Given the description of an element on the screen output the (x, y) to click on. 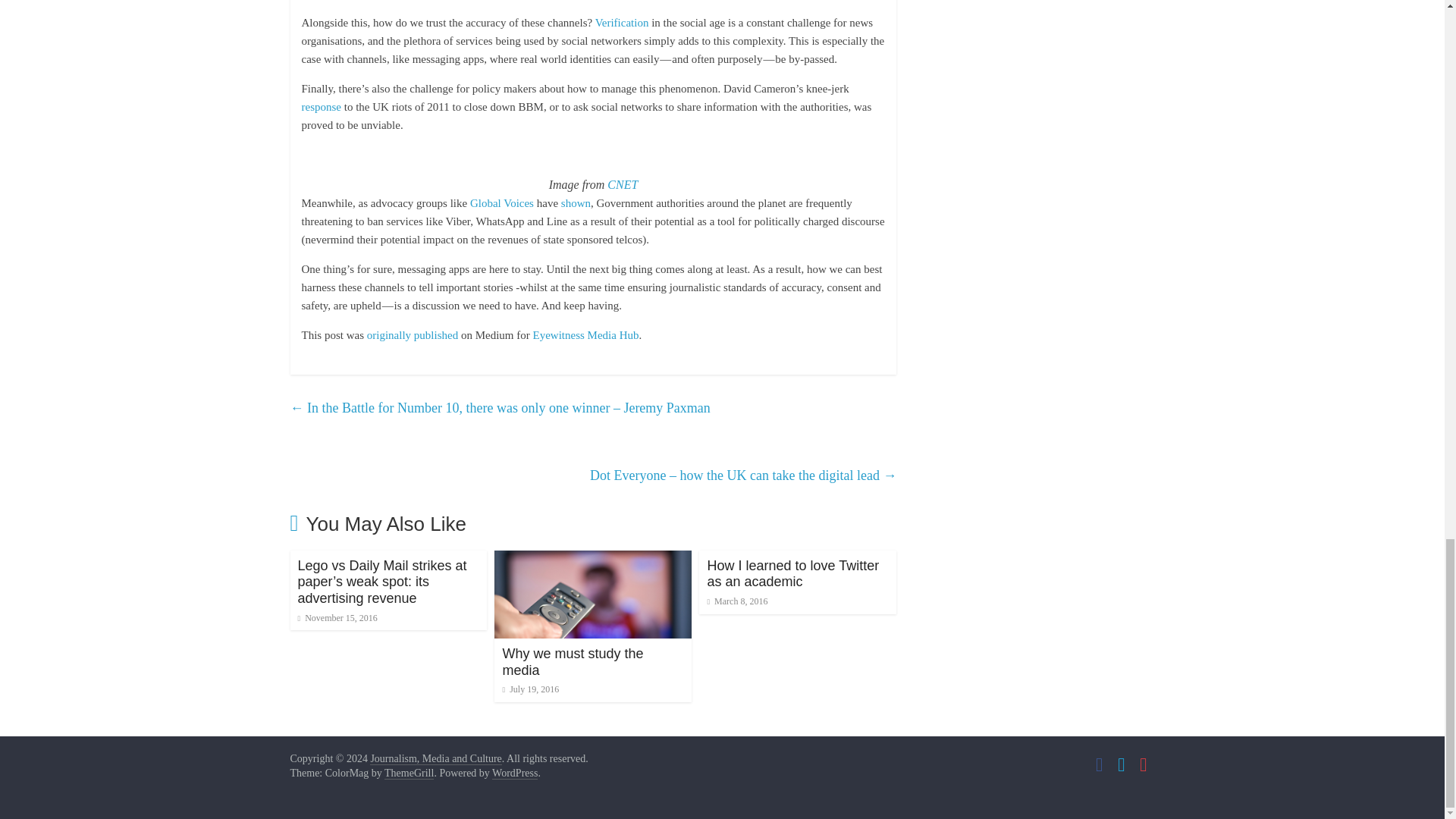
9:55 am (530, 688)
Why we must study the media (572, 662)
Go to the profile of Eyewitness Media Hub (585, 335)
How I learned to love Twitter as an academic (792, 573)
Why we must study the media (593, 559)
8:25 am (337, 617)
9:38 am (736, 601)
